Given the description of an element on the screen output the (x, y) to click on. 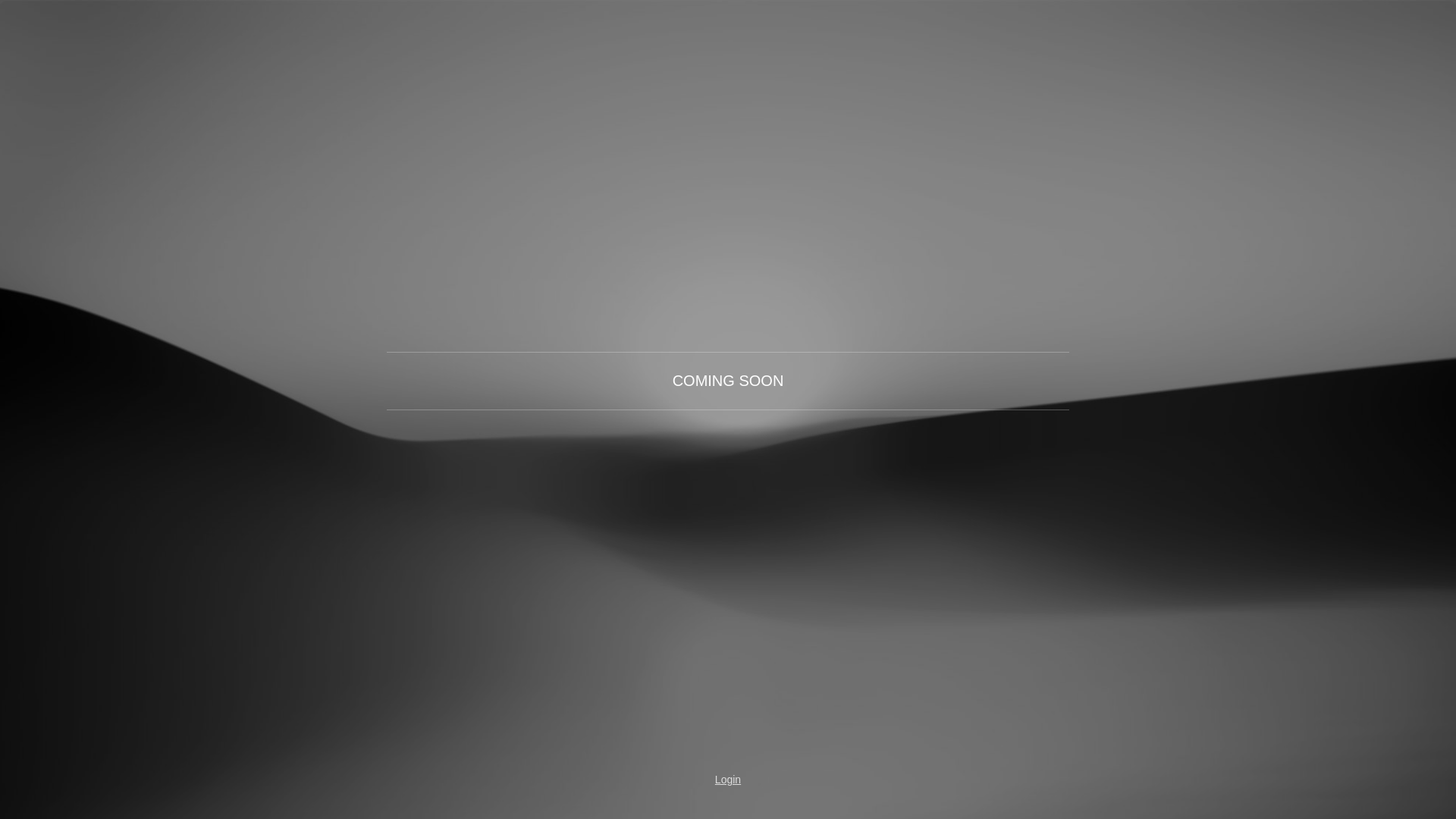
Login Element type: text (727, 779)
